Given the description of an element on the screen output the (x, y) to click on. 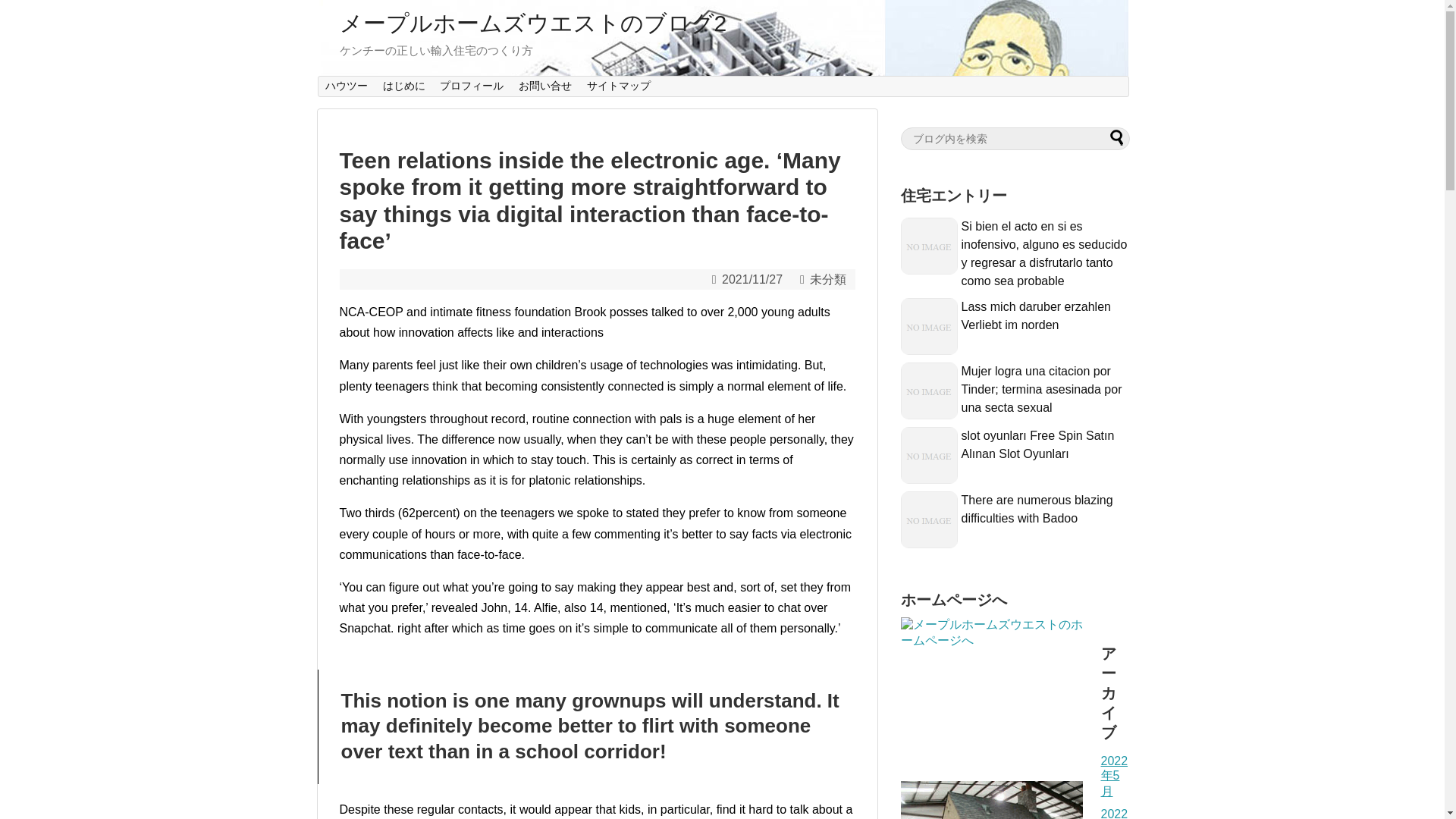
There are numerous blazing difficulties with Badoo (1036, 508)
NO IMAGE (929, 245)
NO IMAGE (929, 390)
NO IMAGE (929, 519)
NO IMAGE (929, 455)
Lass mich daruber erzahlen Verliebt im norden (1035, 315)
NO IMAGE (929, 326)
